Given the description of an element on the screen output the (x, y) to click on. 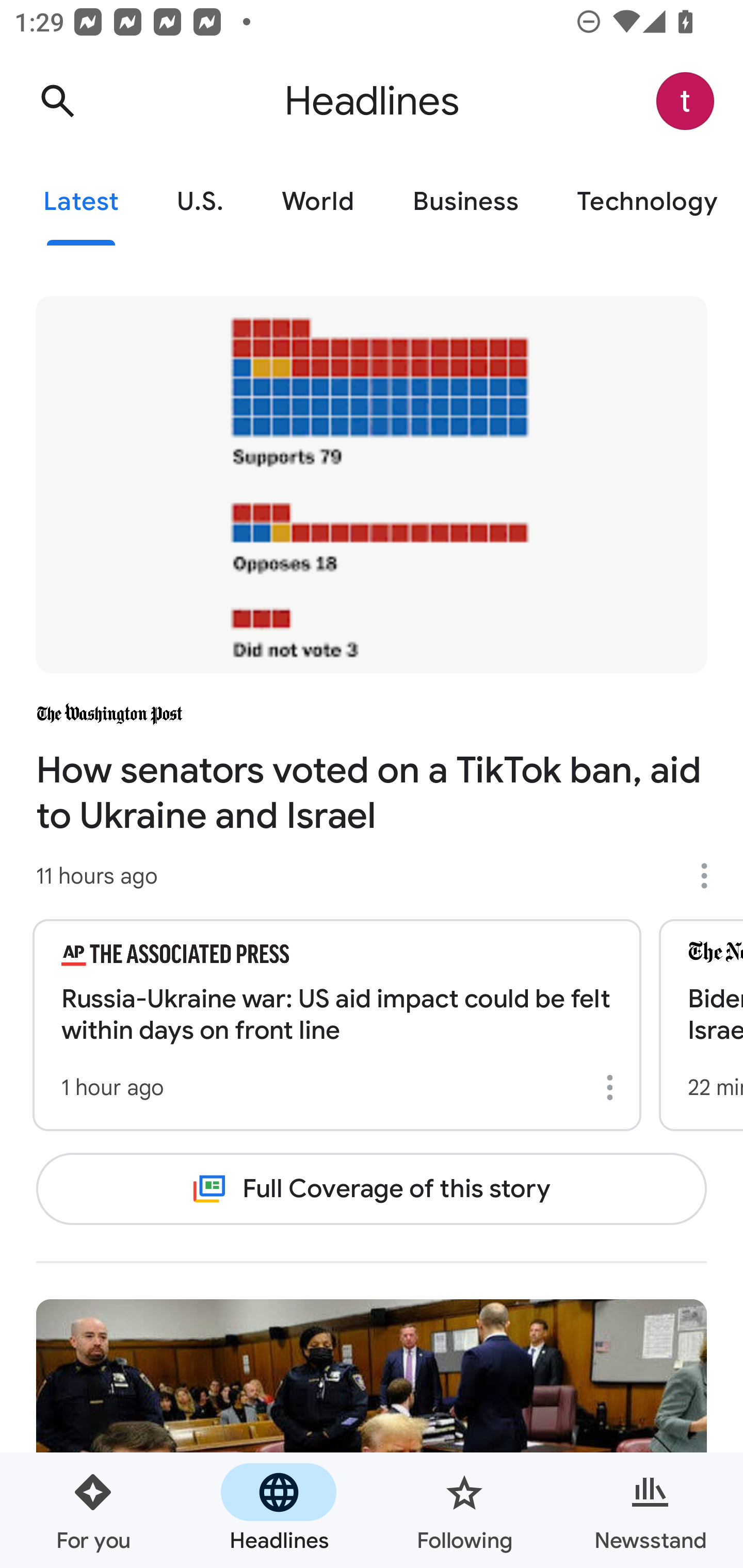
Search (57, 100)
U.S. (199, 202)
World (317, 202)
Business (465, 202)
Technology (645, 202)
More options (711, 875)
More options (613, 1086)
Full Coverage of this story (371, 1188)
For you (92, 1509)
Headlines (278, 1509)
Following (464, 1509)
Newsstand (650, 1509)
